Given the description of an element on the screen output the (x, y) to click on. 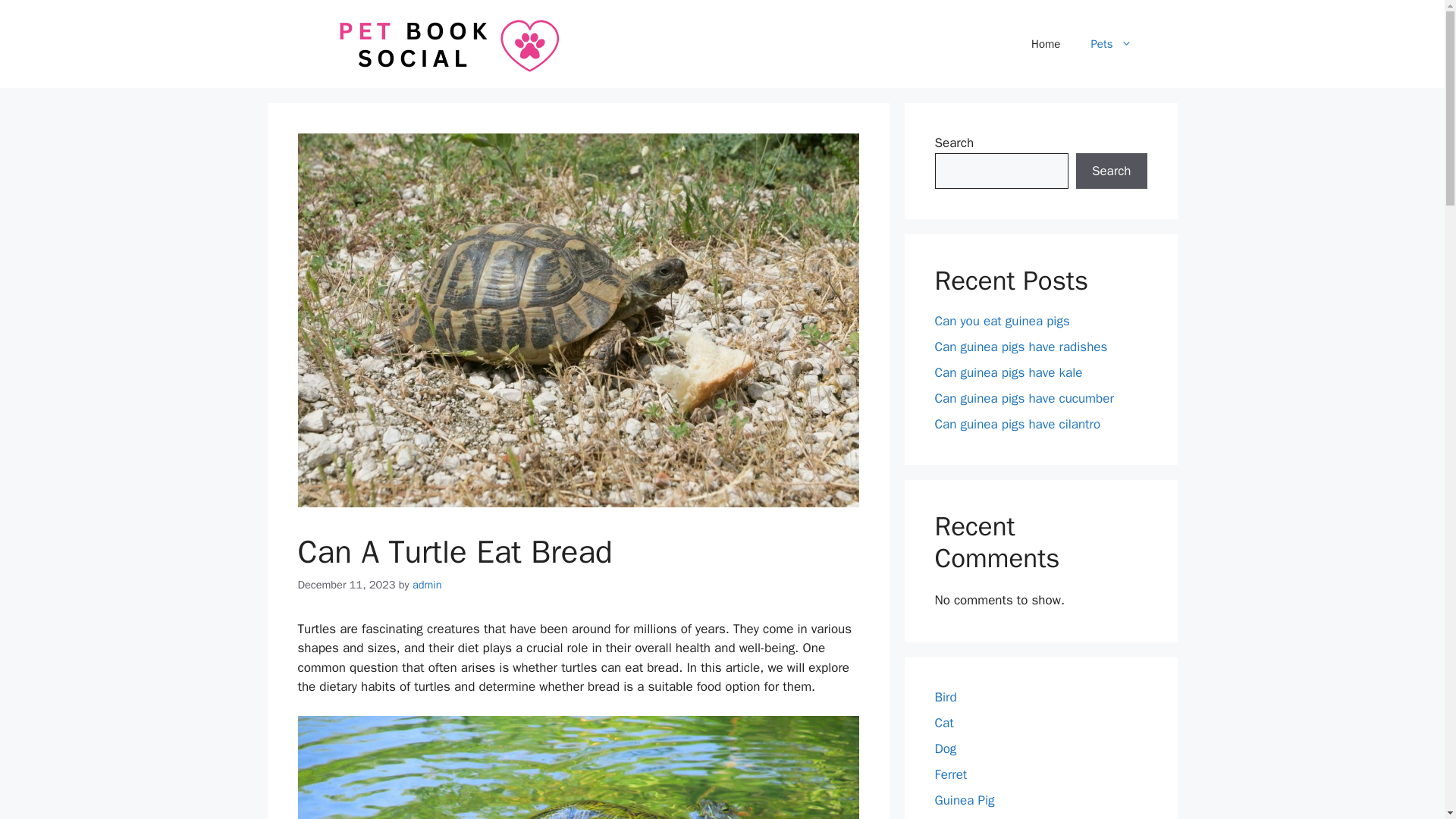
Hamster (957, 818)
Can guinea pigs have cilantro (1017, 424)
Dog (945, 748)
admin (427, 584)
Pets (1111, 43)
Guinea Pig (964, 800)
Bird (945, 697)
Can guinea pigs have kale (1007, 372)
Can guinea pigs have cucumber (1023, 398)
Can you eat guinea pigs (1001, 320)
Can guinea pigs have radishes (1020, 346)
Search (1111, 171)
Cat (943, 722)
Home (1045, 43)
Ferret (950, 774)
